Given the description of an element on the screen output the (x, y) to click on. 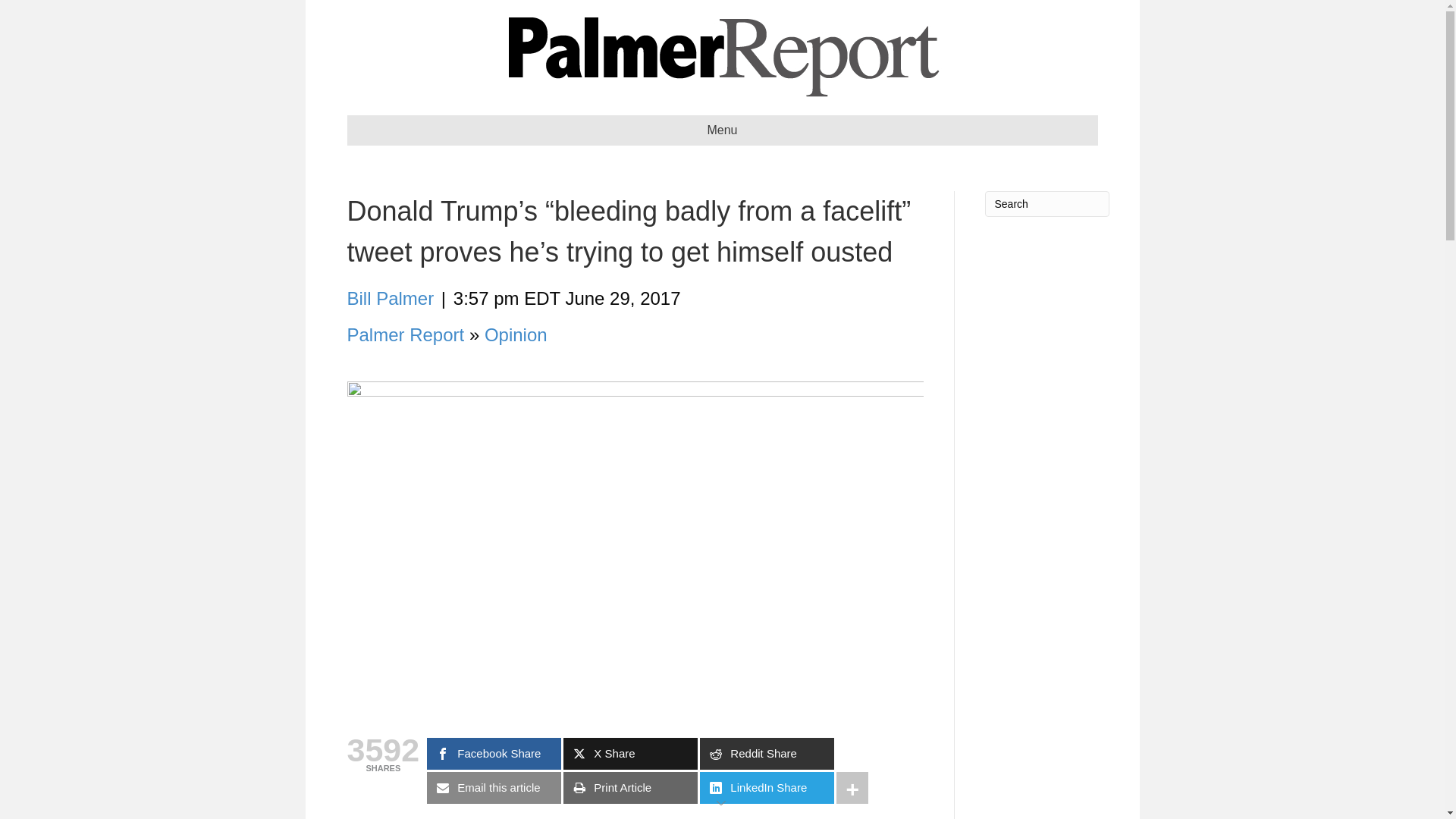
Facebook Share (493, 753)
Search (1046, 203)
Opinion (515, 334)
LinkedIn Share (767, 787)
Search (1046, 203)
Menu (722, 130)
Bill Palmer (390, 298)
Print Article (630, 787)
X Share (630, 753)
Palmer Report (405, 334)
Type and press Enter to search. (1046, 203)
Posts by Bill Palmer (390, 298)
Email this article (493, 787)
Reddit Share (767, 753)
Ad.Plus Advertising (722, 801)
